Given the description of an element on the screen output the (x, y) to click on. 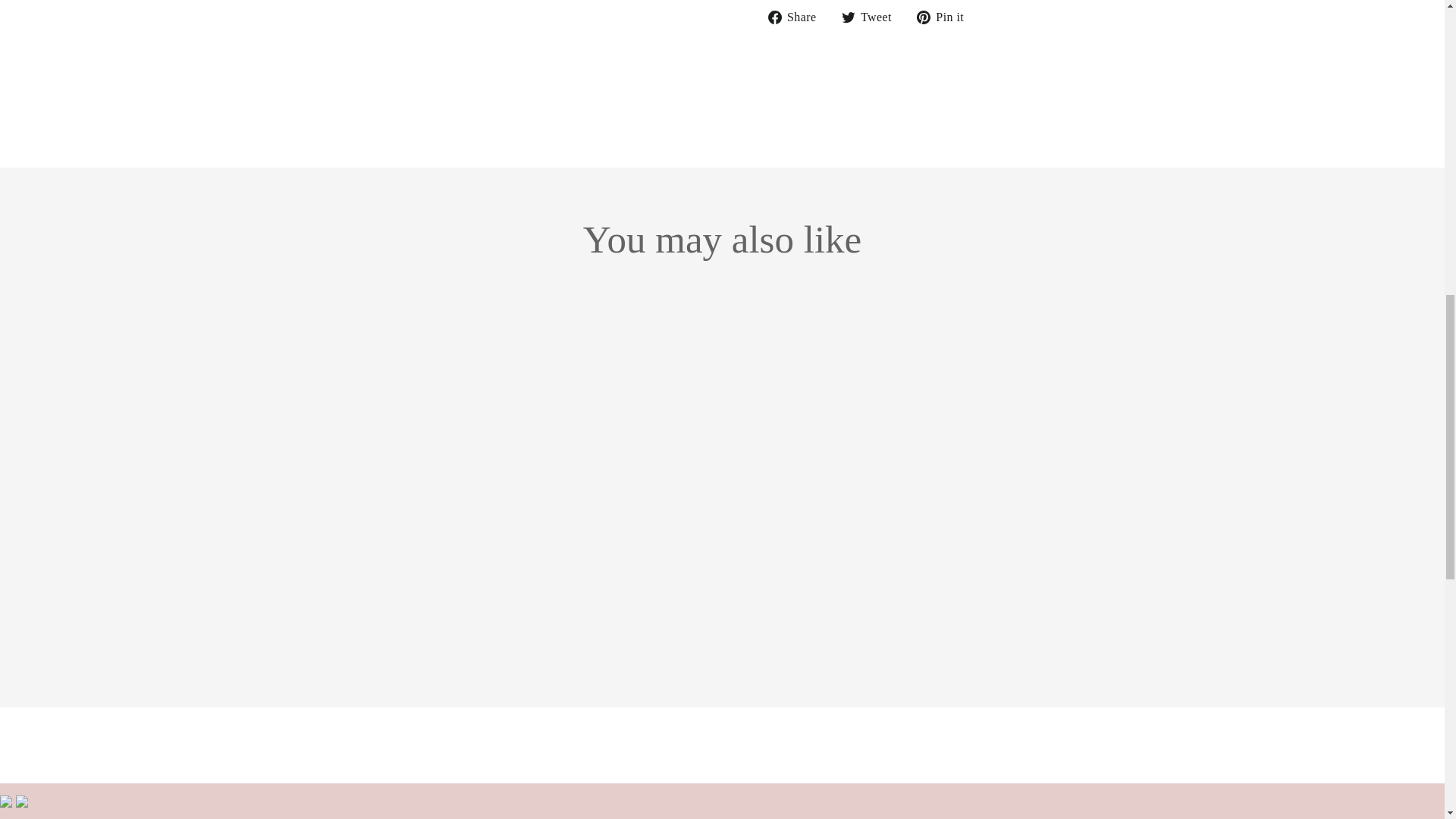
Share on Facebook (797, 16)
Pin on Pinterest (946, 16)
Tweet on Twitter (871, 16)
